Given the description of an element on the screen output the (x, y) to click on. 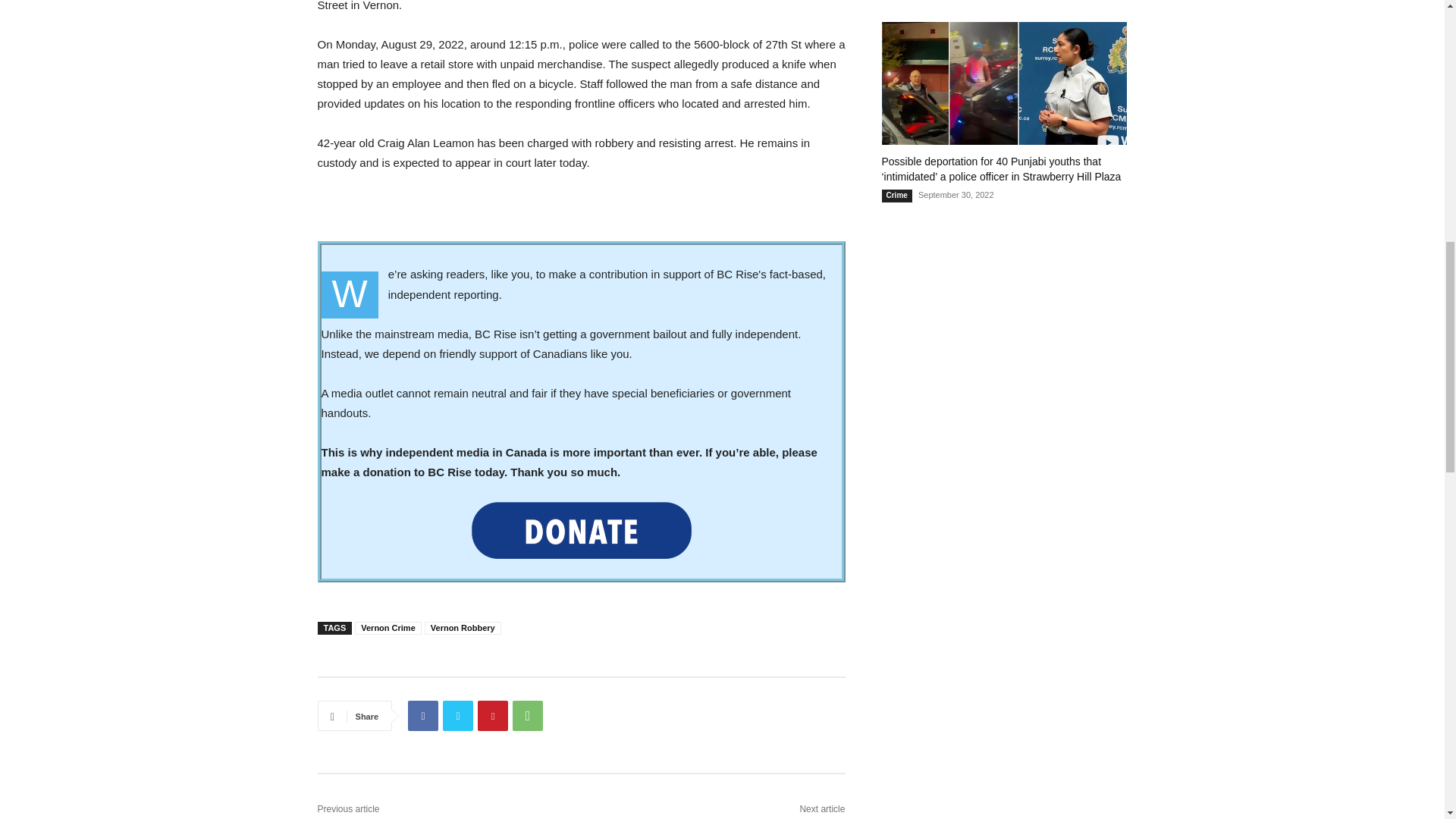
Facebook (422, 716)
